Given the description of an element on the screen output the (x, y) to click on. 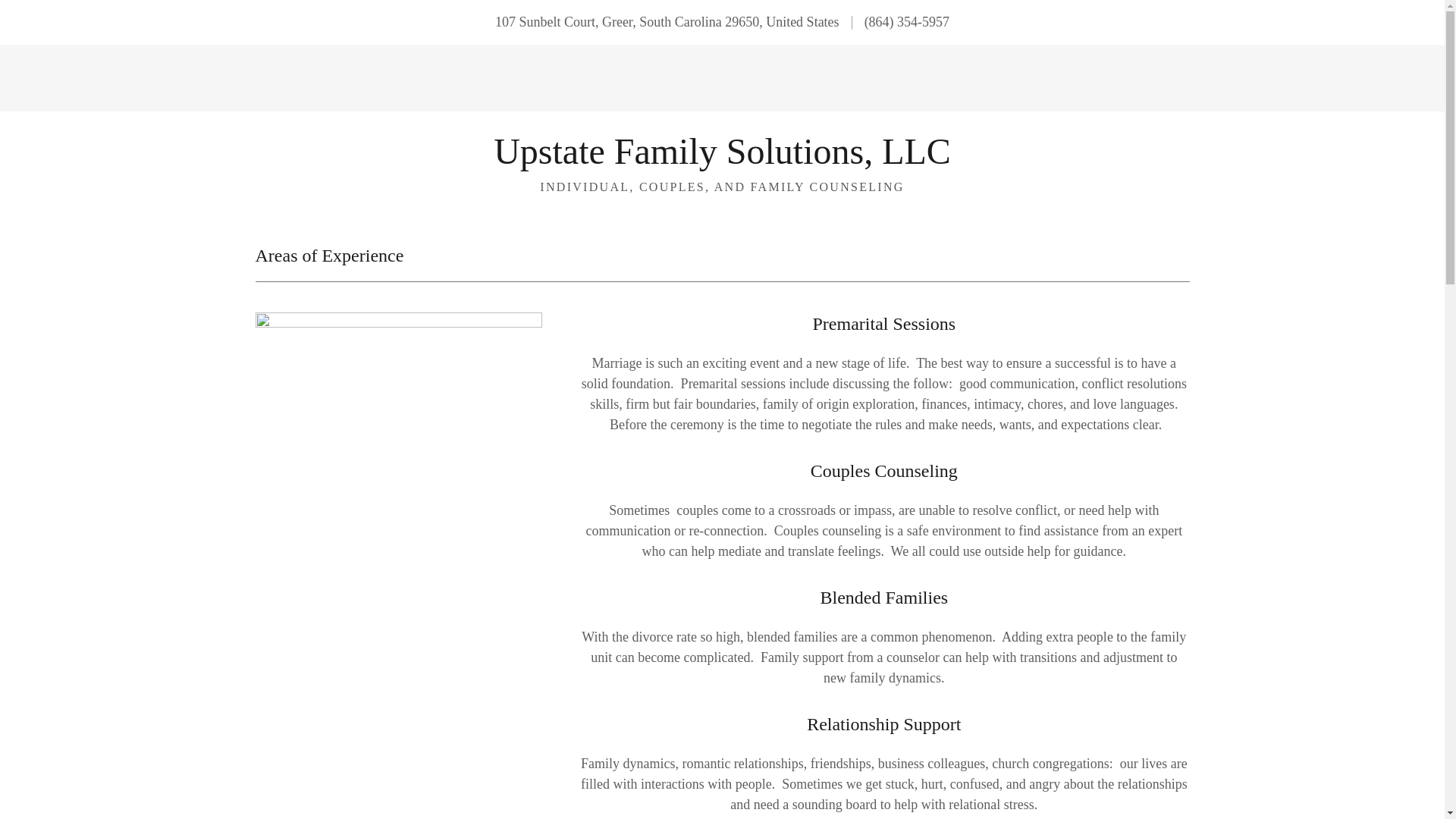
Upstate Family Solutions, LLC (721, 159)
Upstate Family Solutions, LLC (721, 159)
